Given the description of an element on the screen output the (x, y) to click on. 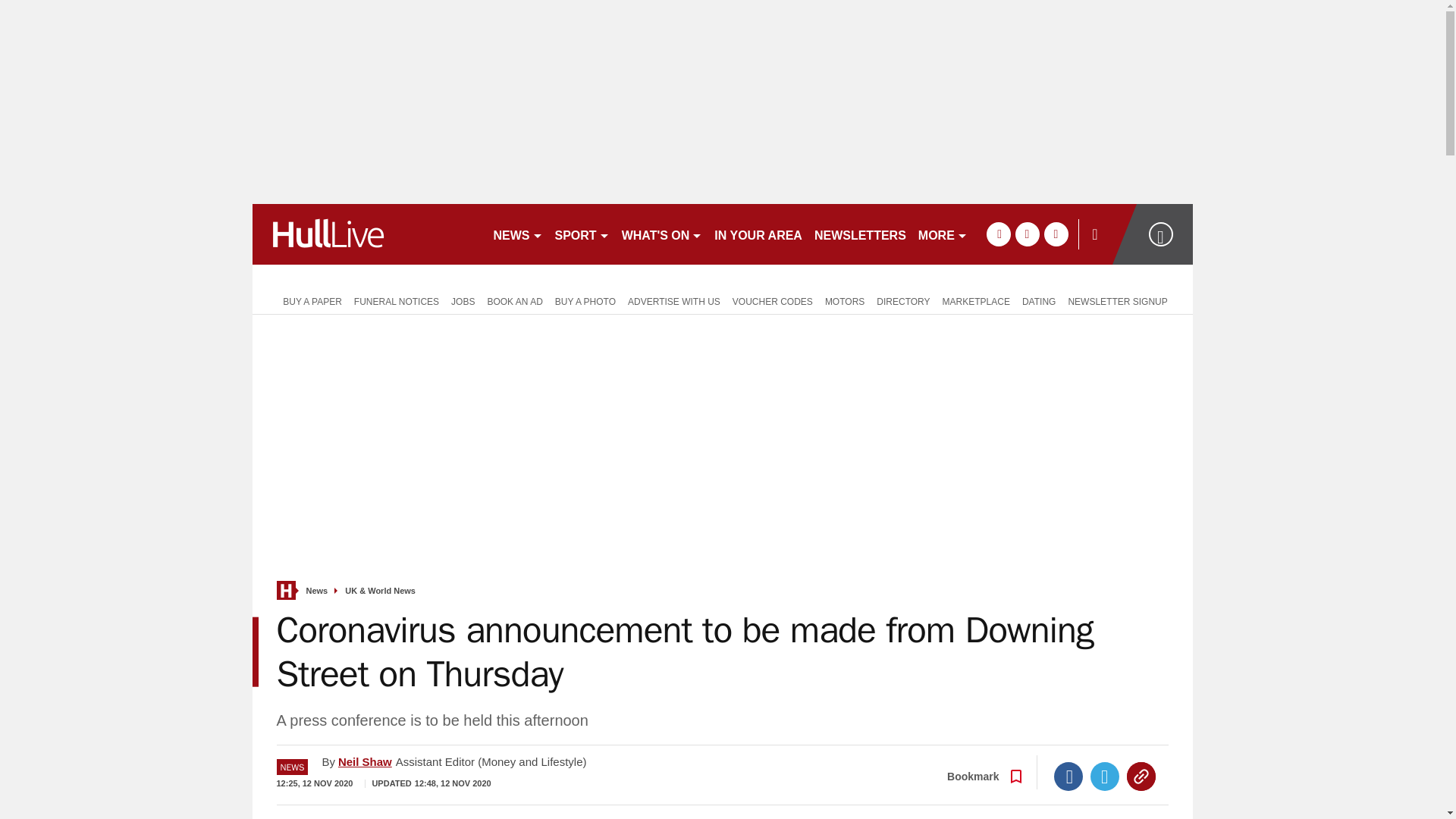
hulldailymail (365, 233)
instagram (1055, 233)
Twitter (1104, 776)
Facebook (1068, 776)
facebook (997, 233)
NEWS (517, 233)
NEWSLETTERS (860, 233)
MORE (943, 233)
twitter (1026, 233)
IN YOUR AREA (757, 233)
